Given the description of an element on the screen output the (x, y) to click on. 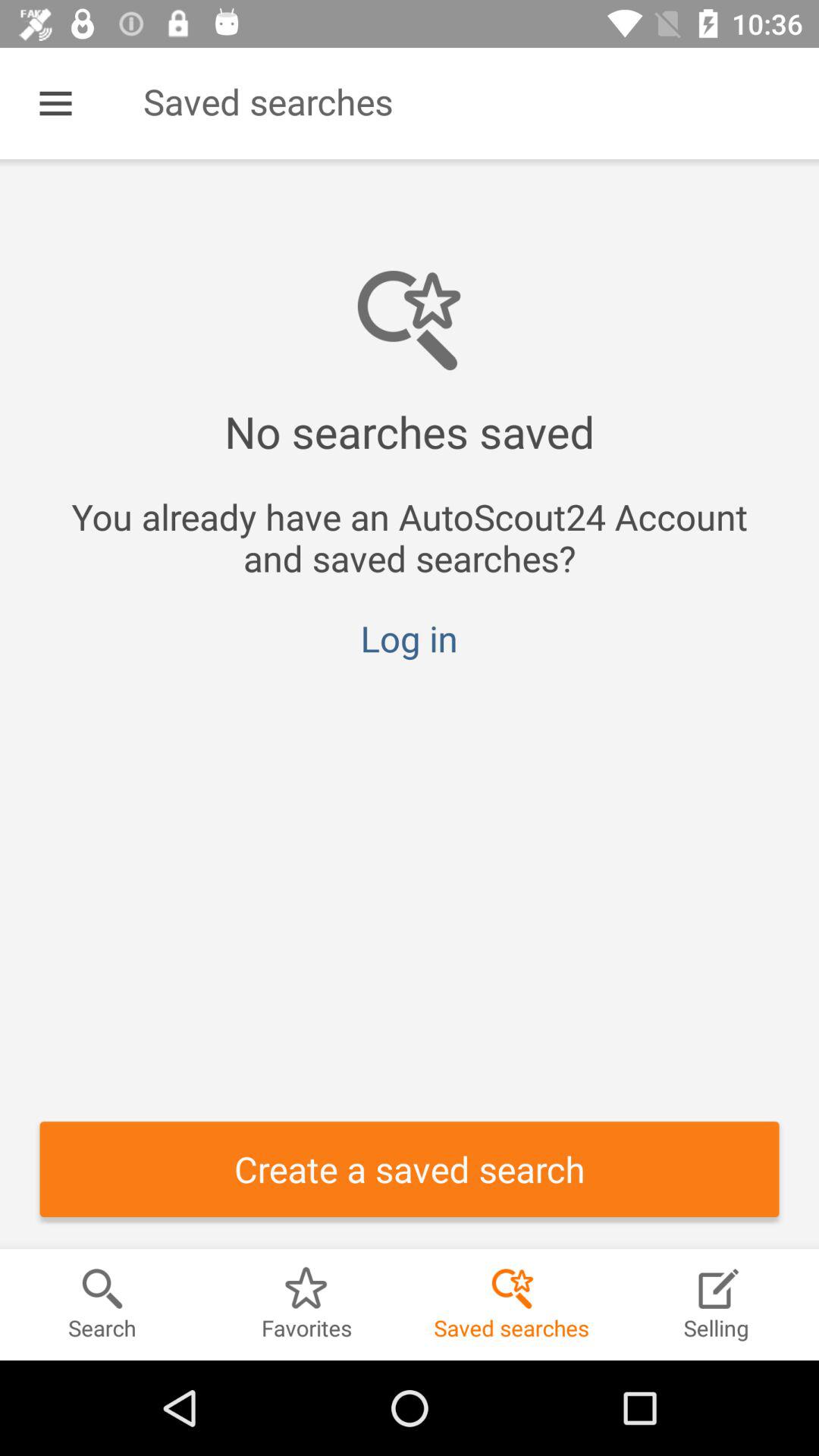
open log in item (408, 638)
